Given the description of an element on the screen output the (x, y) to click on. 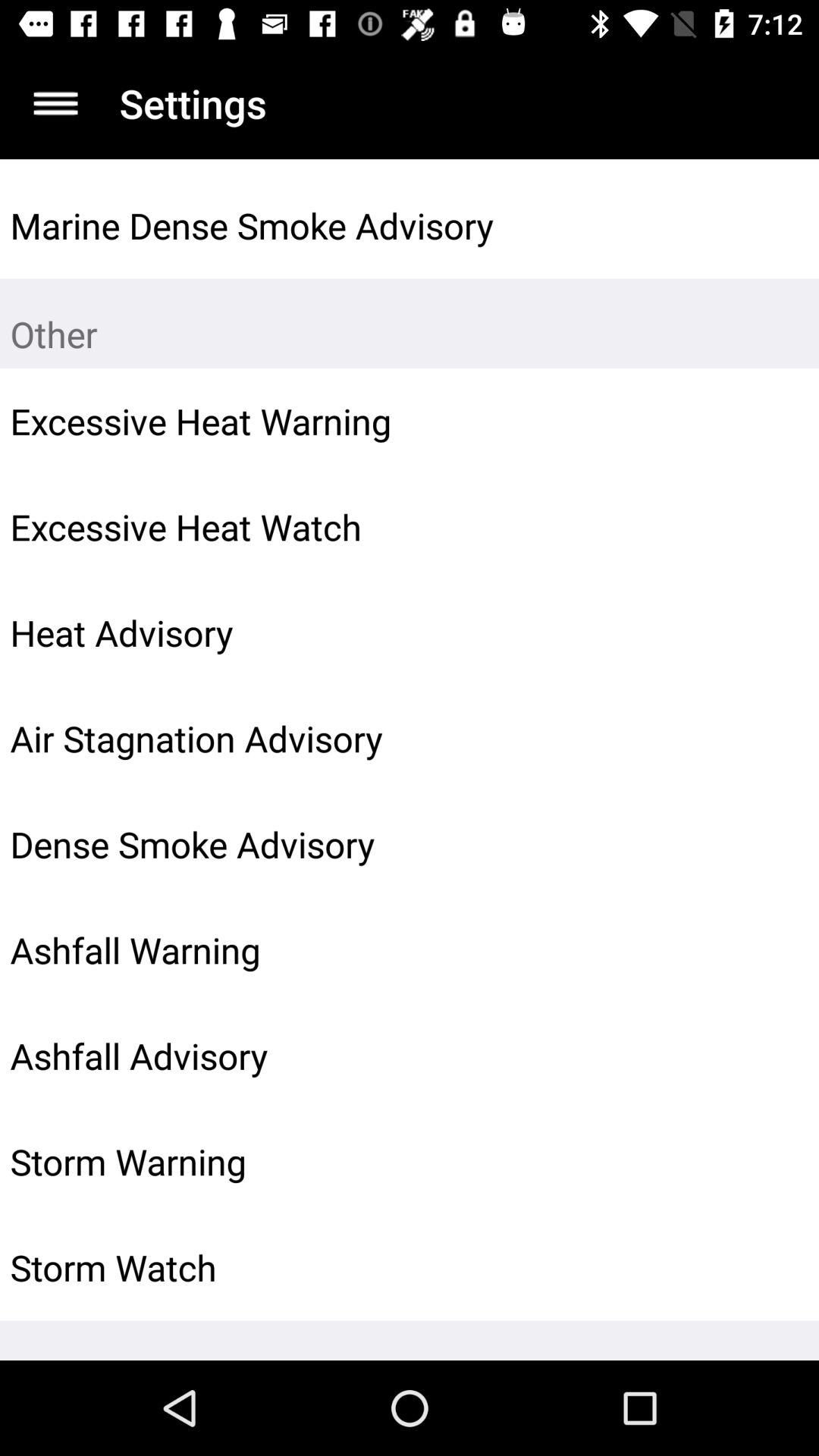
swipe to heat advisory icon (366, 632)
